Given the description of an element on the screen output the (x, y) to click on. 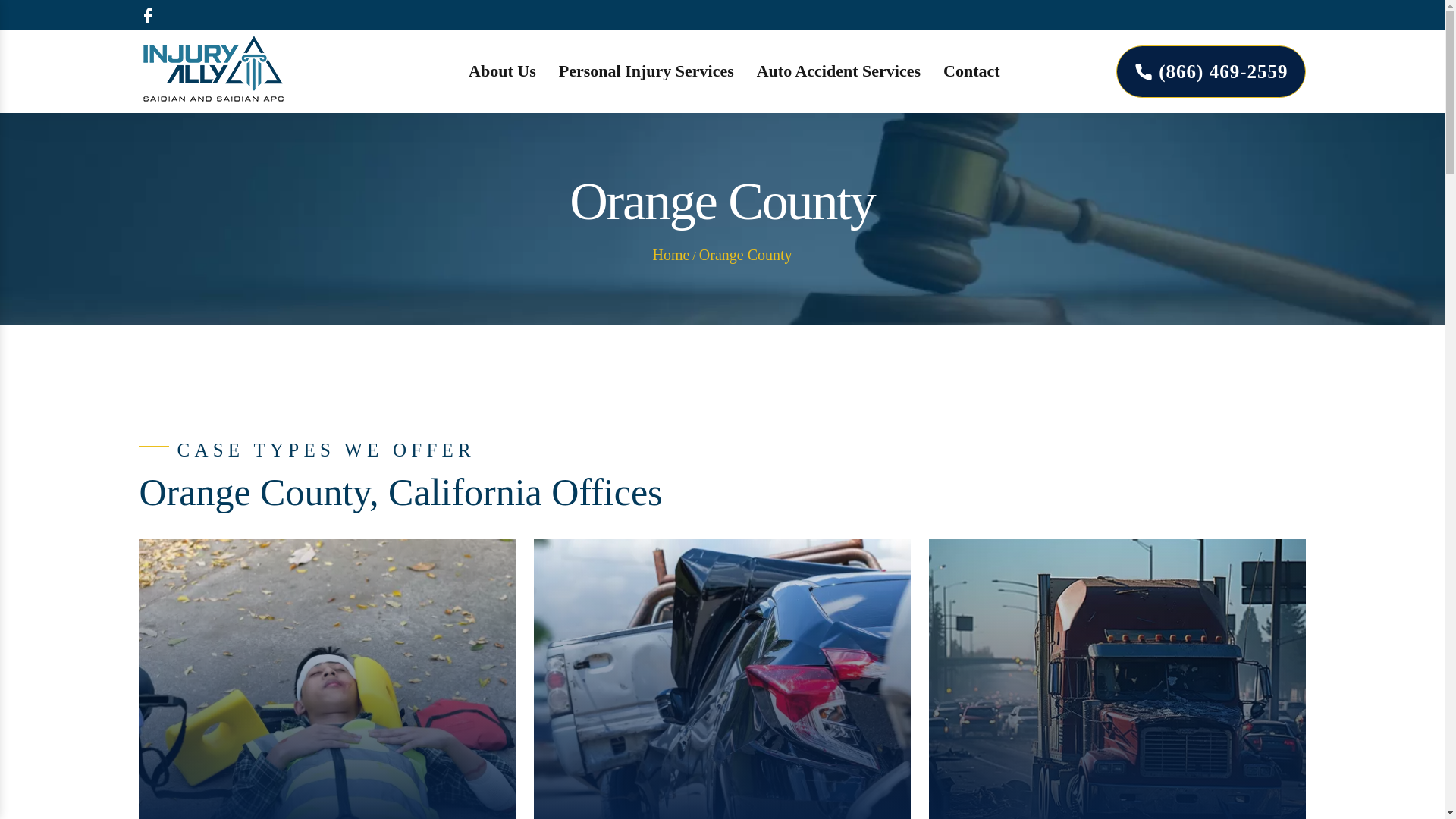
Personal Injury Services (646, 71)
About Us (501, 71)
Auto Accident Services (838, 71)
Contact (971, 71)
